Given the description of an element on the screen output the (x, y) to click on. 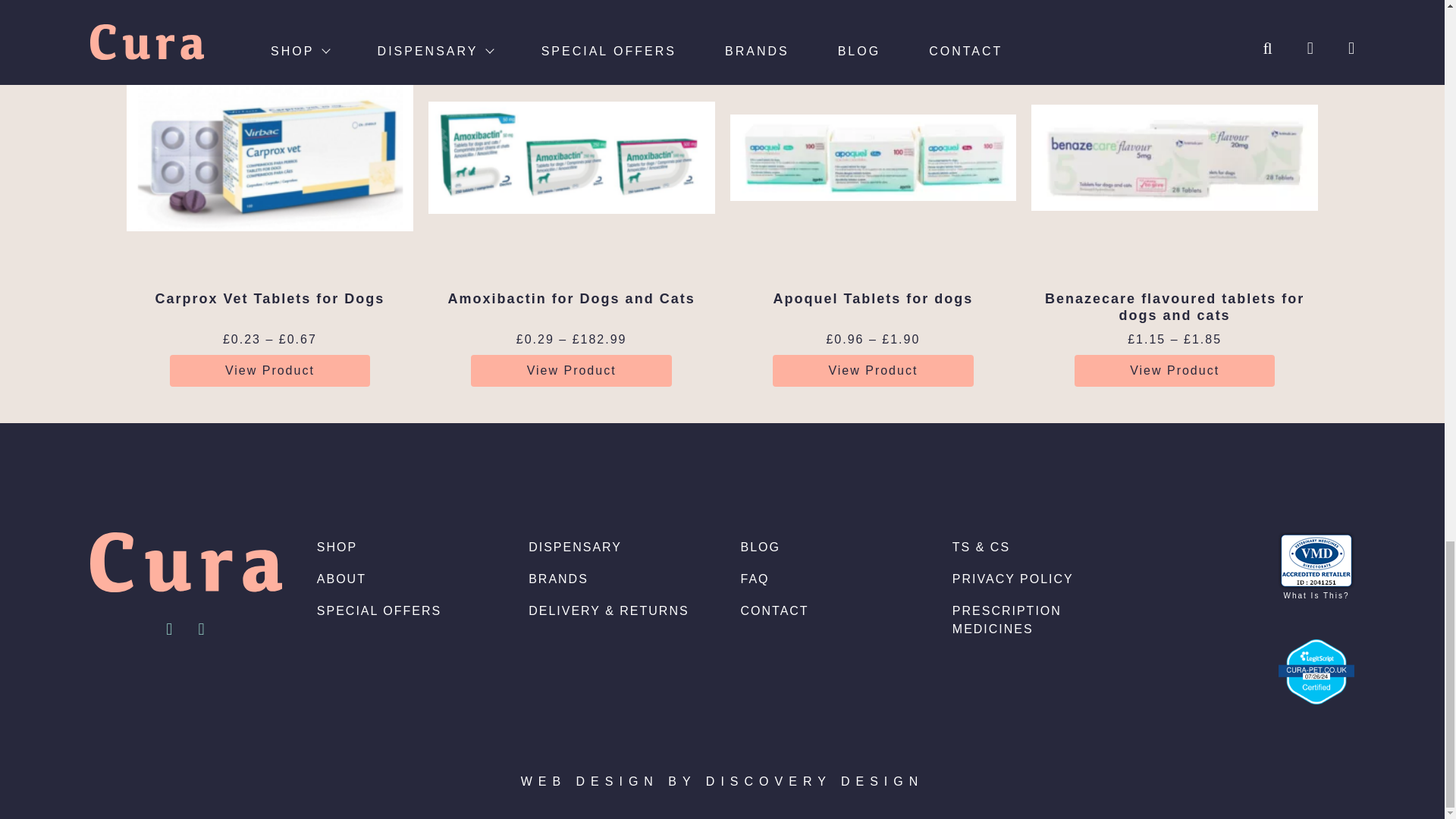
Cura (186, 562)
Verify LegitScript Approval (1316, 670)
